Given the description of an element on the screen output the (x, y) to click on. 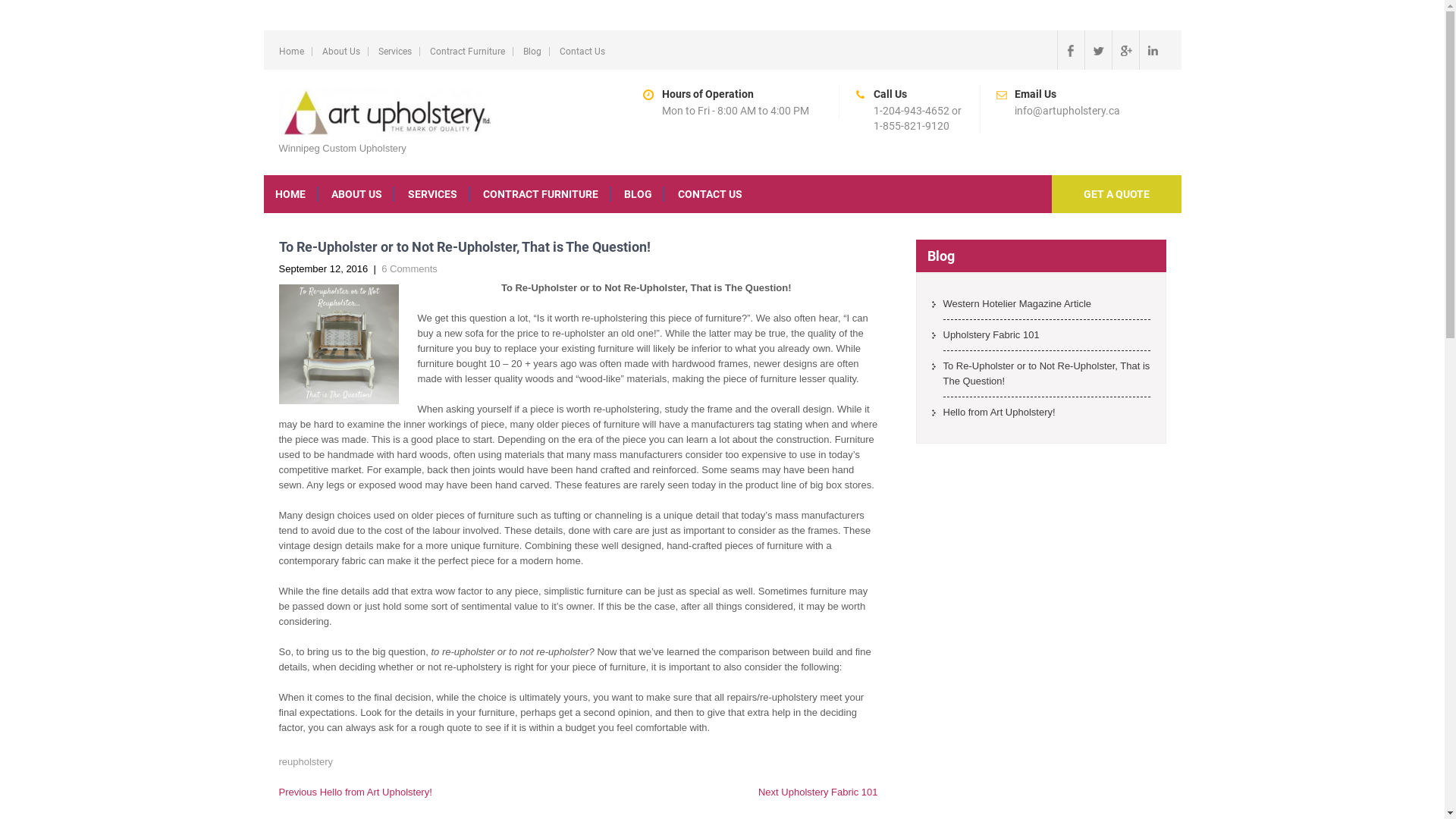
HOME Element type: text (290, 193)
Home Element type: text (291, 51)
SERVICES Element type: text (431, 193)
reupholstery Element type: text (306, 761)
6 Comments Element type: text (409, 268)
Next
Next Post:
Upholstery Fabric 101 Element type: text (818, 791)
BLOG Element type: text (638, 193)
Contract Furniture Element type: text (466, 51)
Upholstery Fabric 101 Element type: text (1046, 339)
CONTRACT FURNITURE Element type: text (540, 193)
linkedin Element type: hover (1152, 49)
Blog Element type: text (532, 51)
GET A QUOTE Element type: text (1115, 194)
Hello from Art Upholstery! Element type: text (1046, 415)
facebook Element type: hover (1070, 49)
Services Element type: text (394, 51)
twitter Element type: hover (1097, 49)
Previous
Previous Post:
Hello from Art Upholstery! Element type: text (355, 791)
ABOUT US Element type: text (357, 193)
google-plus Element type: hover (1125, 49)
Western Hotelier Magazine Article Element type: text (1046, 308)
CONTACT US Element type: text (709, 193)
Contact Us Element type: text (582, 51)
About Us Element type: text (340, 51)
